Given the description of an element on the screen output the (x, y) to click on. 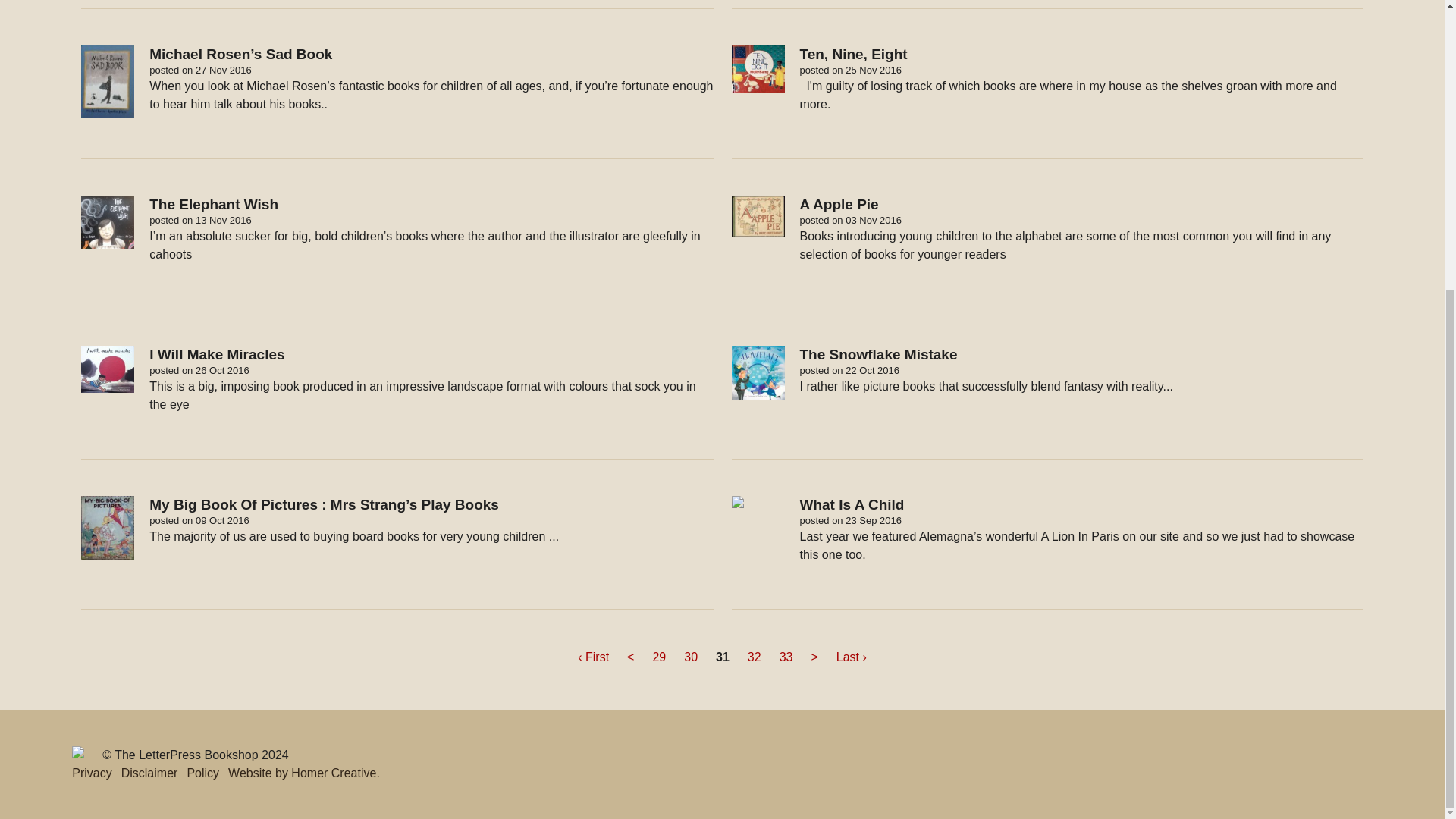
Link to Ten, Nine, Eight (1046, 101)
32 (753, 657)
Policy (202, 772)
Link to A Apple Pie  (1046, 252)
30 (690, 657)
